Given the description of an element on the screen output the (x, y) to click on. 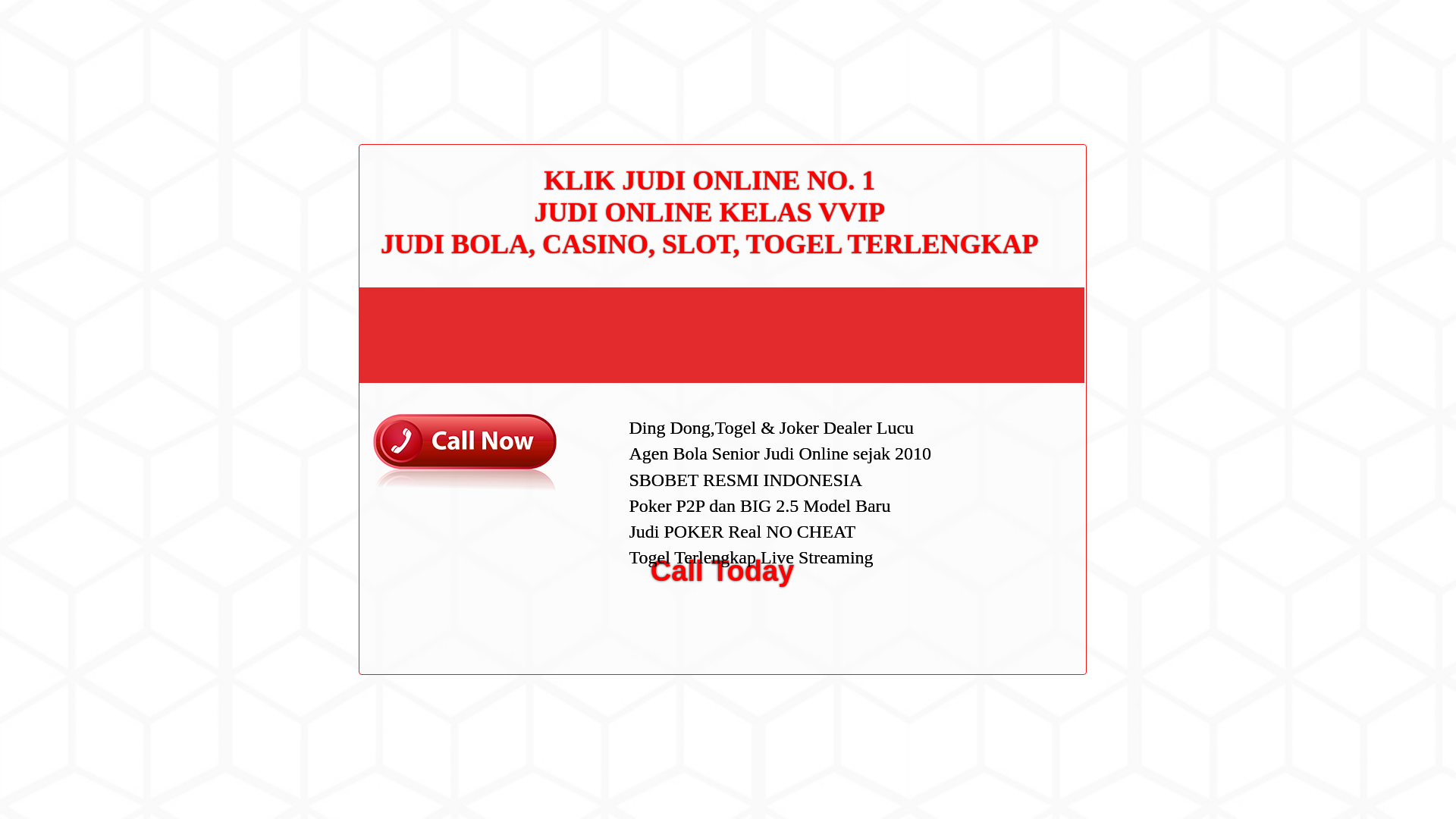
Disclaimer (990, 354)
Search (1050, 85)
Latest Article (996, 172)
Terms of Use (996, 330)
Contact Us (991, 258)
KANONSPORTS.COM (403, 28)
Log in (980, 588)
ADMINISTRATOR (417, 81)
Search (1050, 85)
Privacy Policy (999, 306)
DMCA Policy (996, 282)
July 2020 (988, 432)
Blog (976, 510)
Search (1050, 85)
Search for: (1049, 47)
